Given the description of an element on the screen output the (x, y) to click on. 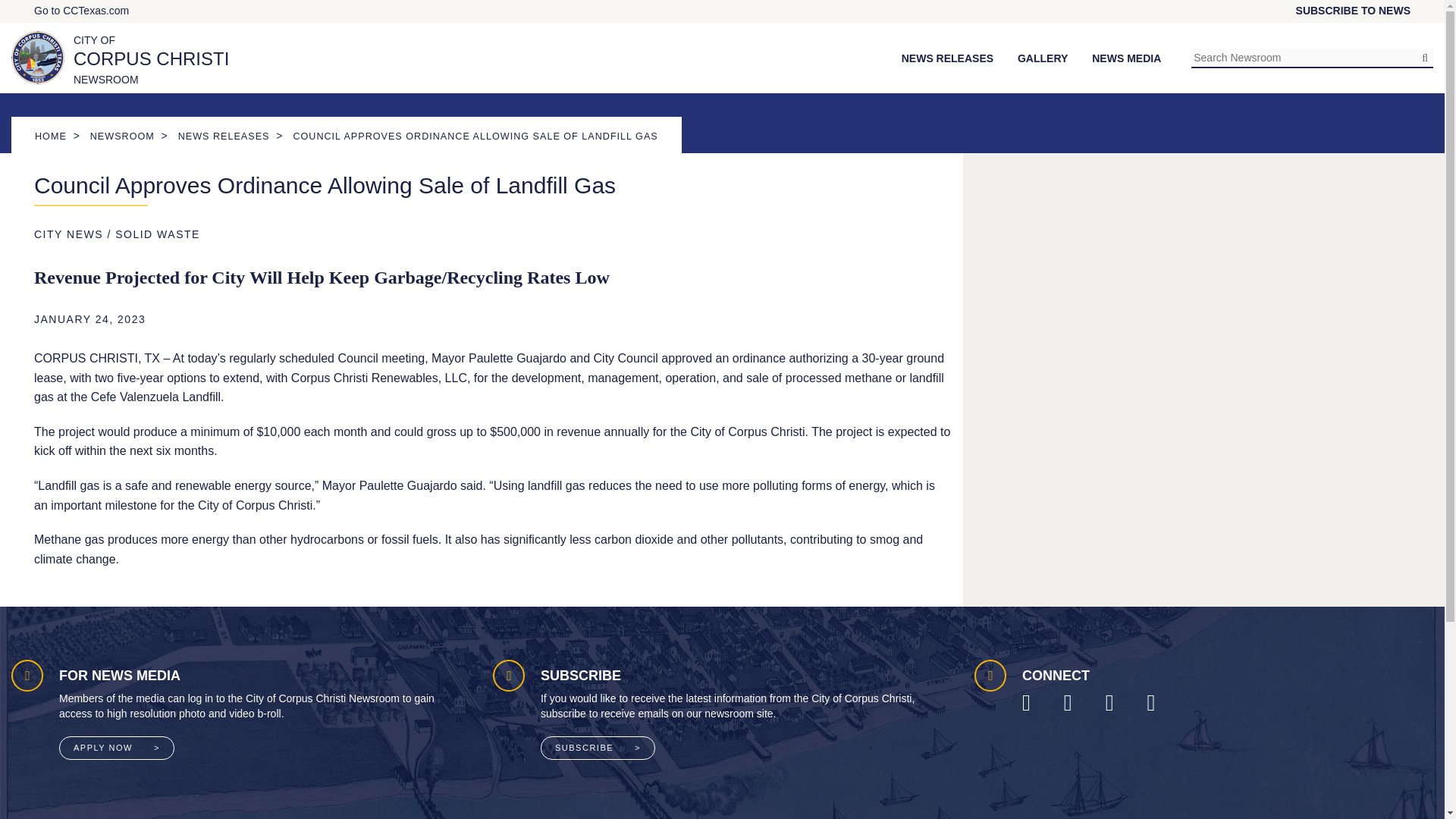
SUBSCRIBE (597, 748)
CITY NEWS (68, 234)
Submit (1424, 56)
APPLY NOW (116, 748)
NEWSROOM (122, 136)
View more results for Solid Waste (157, 234)
NEWS RELEASES (223, 136)
SUBSCRIBE TO NEWS (1352, 10)
GALLERY (1042, 58)
View more results for City News (68, 234)
Go to CCTexas.com (119, 57)
NEWS MEDIA (81, 10)
SOLID WASTE (1126, 58)
NEWS RELEASES (157, 234)
